Given the description of an element on the screen output the (x, y) to click on. 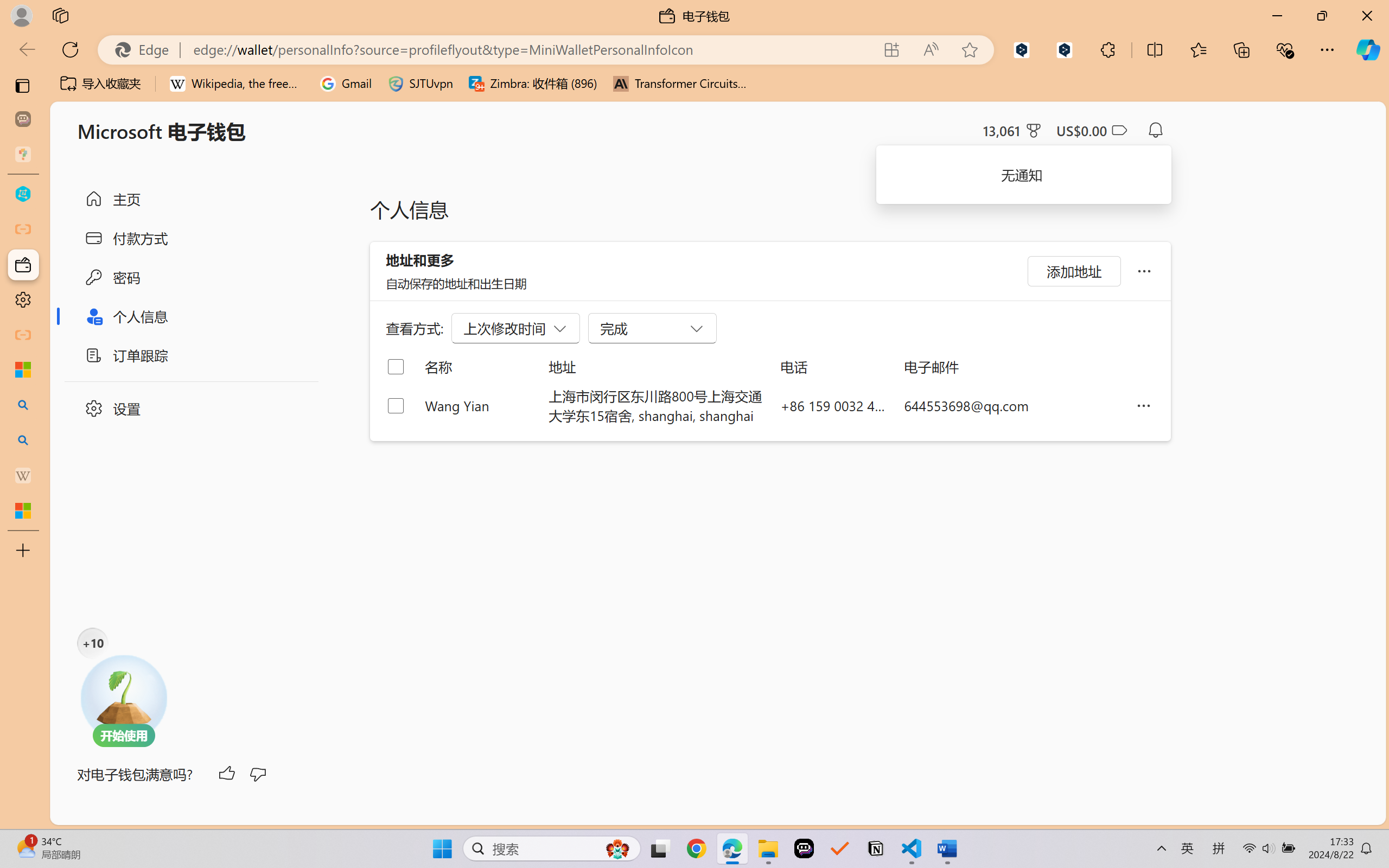
Transformer Circuits Thread (680, 83)
Gmail (345, 83)
Microsoft Cashback - US$0.00 (1090, 129)
